Given the description of an element on the screen output the (x, y) to click on. 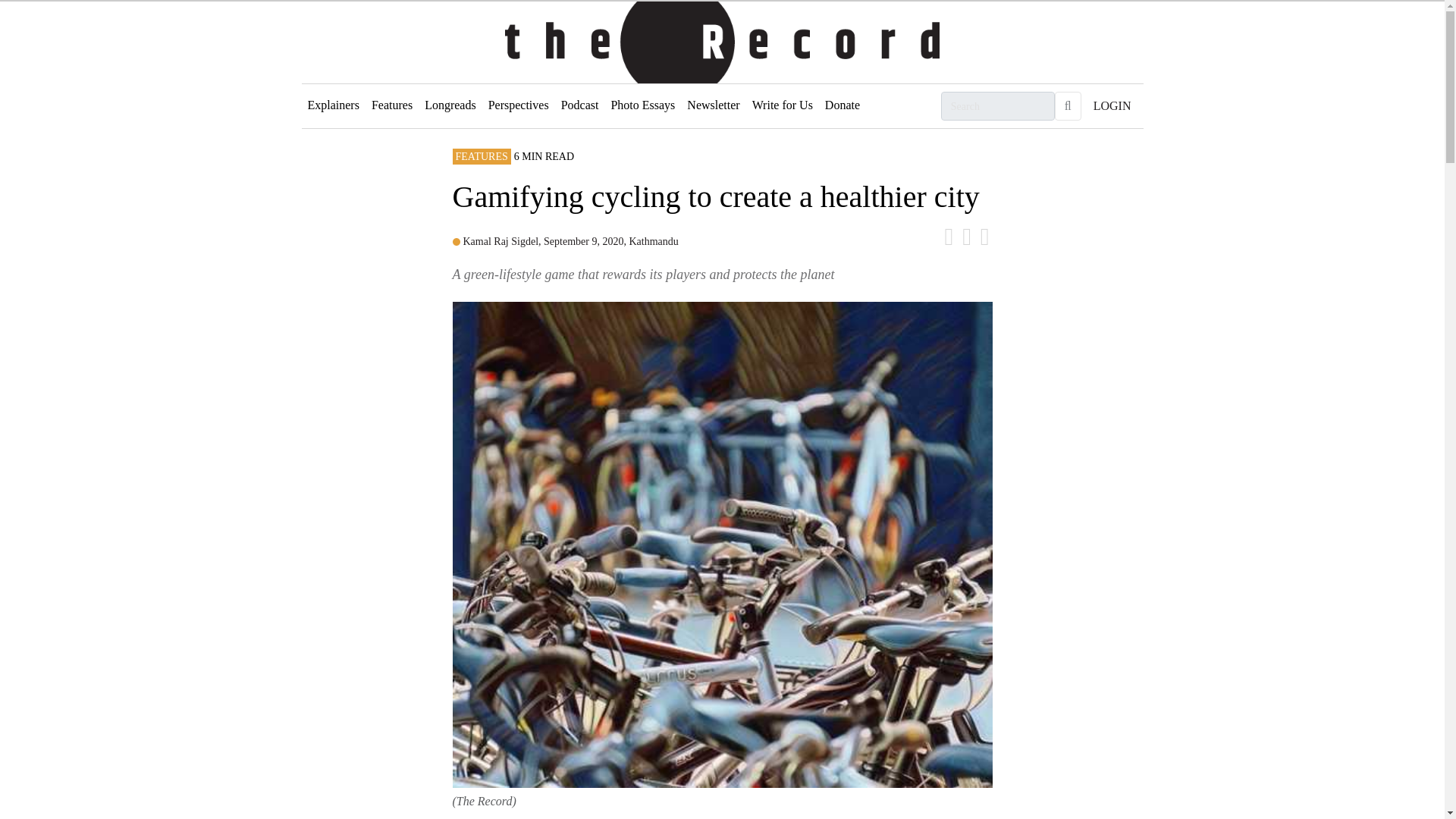
Kamal Raj Sigdel, (503, 241)
Photo Essays (642, 106)
Explainers (333, 106)
Longreads (450, 106)
Features (392, 106)
Write for Us (781, 106)
Podcast (579, 106)
Perspectives (517, 106)
Donate (842, 106)
LOGIN (1111, 105)
